Given the description of an element on the screen output the (x, y) to click on. 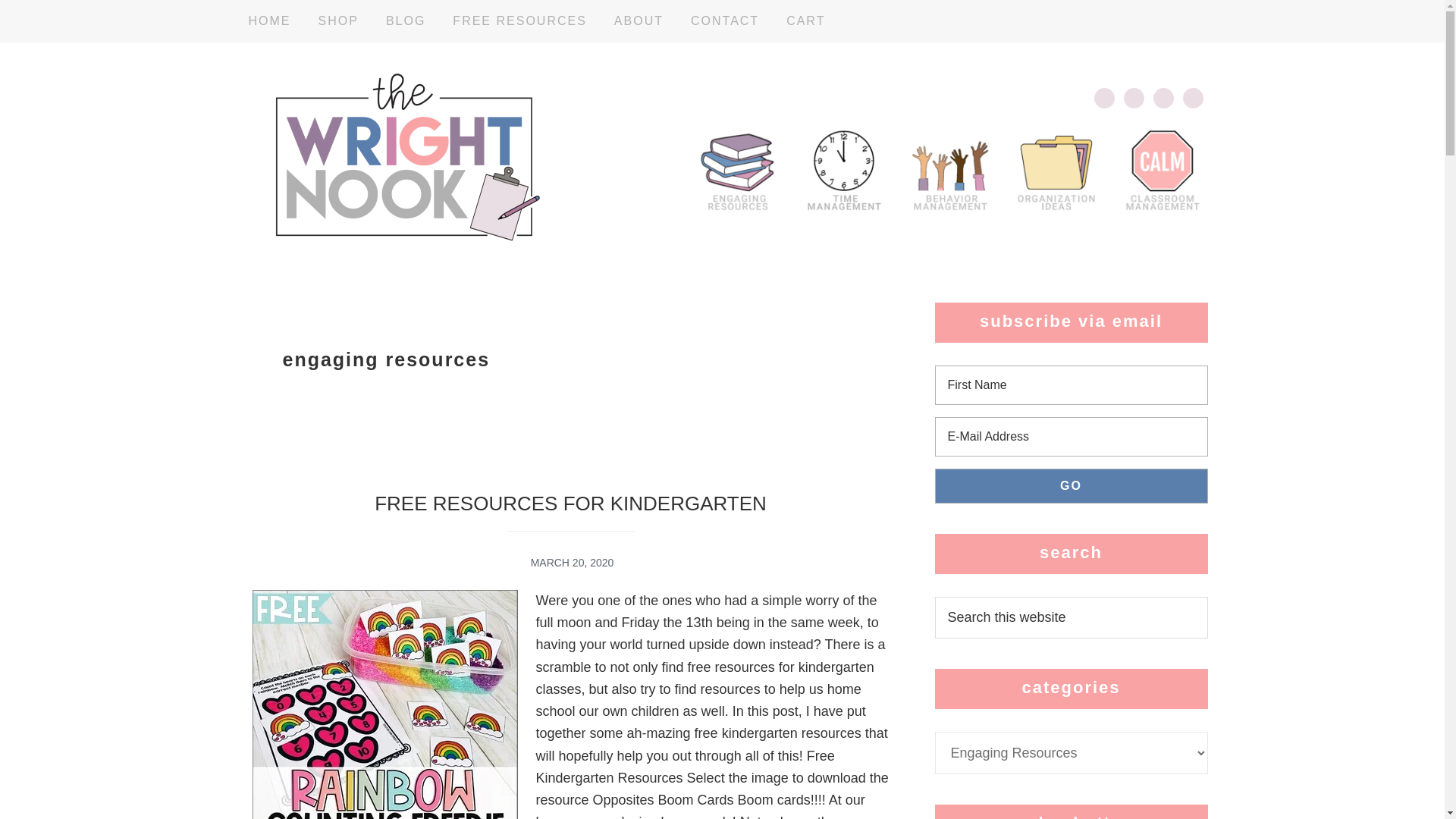
Classroom Management (1161, 169)
HOME (268, 21)
Time Management (842, 169)
FREE RESOURCES FOR KINDERGARTEN (570, 503)
Engaging Resources (736, 169)
ABOUT (638, 21)
CONTACT (724, 21)
BLOG (405, 21)
CART (804, 21)
THE WRIGHT NOOK (406, 156)
Behavior Management (949, 169)
Go (1070, 485)
